Given the description of an element on the screen output the (x, y) to click on. 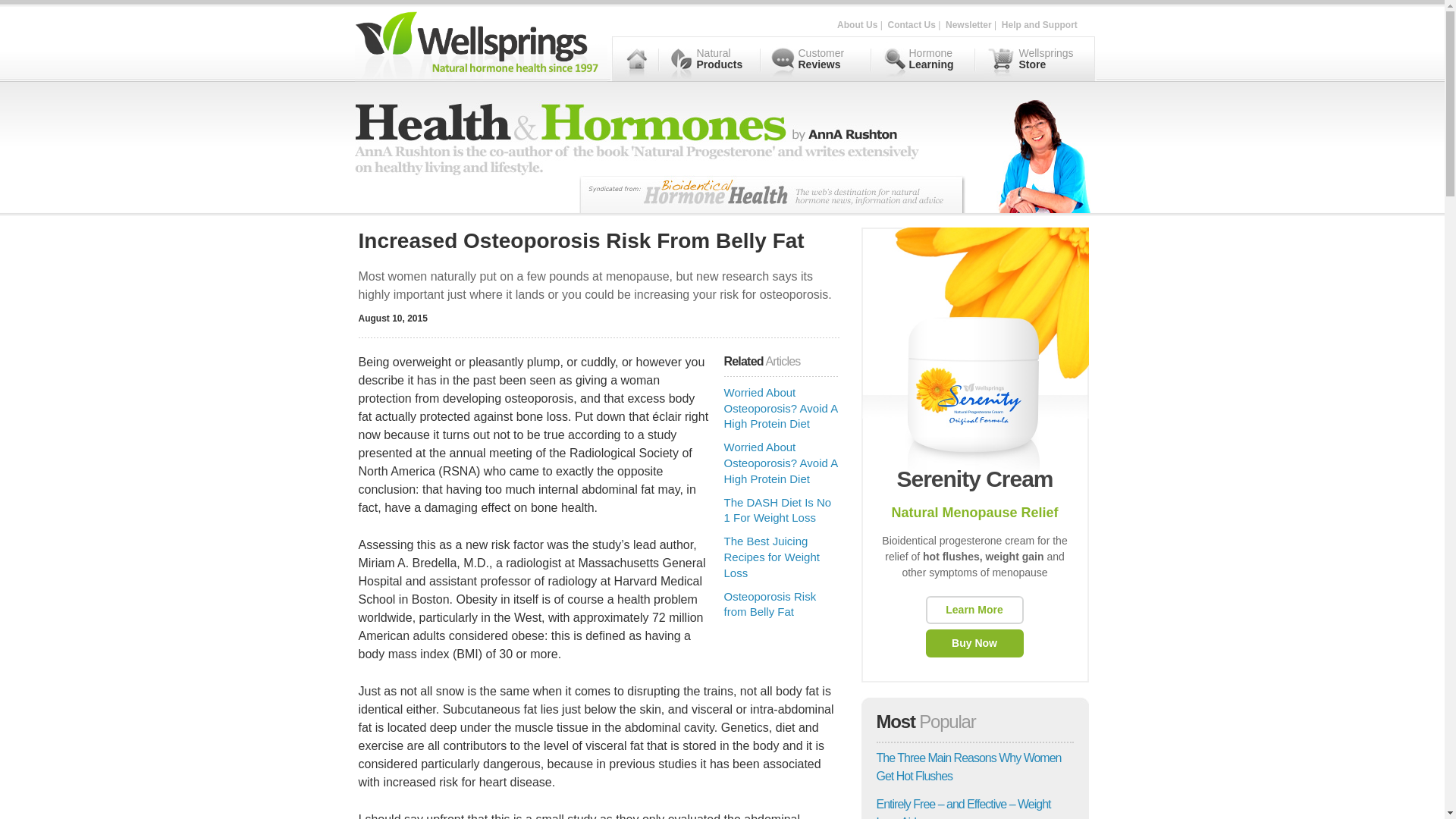
Newsletter (967, 24)
Help and Support (1039, 24)
Contact Us (912, 24)
Osteoporosis Risk from Belly Fat (769, 604)
October 26, 2016 (963, 808)
Worried About Osteoporosis? Avoid A High Protein Diet (780, 462)
Worried About Osteoporosis? Avoid A High Protein Diet (780, 407)
March 23, 2022 (968, 766)
About Us (857, 24)
The Best Juicing Recipes for Weight Loss (770, 556)
The DASH Diet Is No 1 For Weight Loss (777, 510)
